Given the description of an element on the screen output the (x, y) to click on. 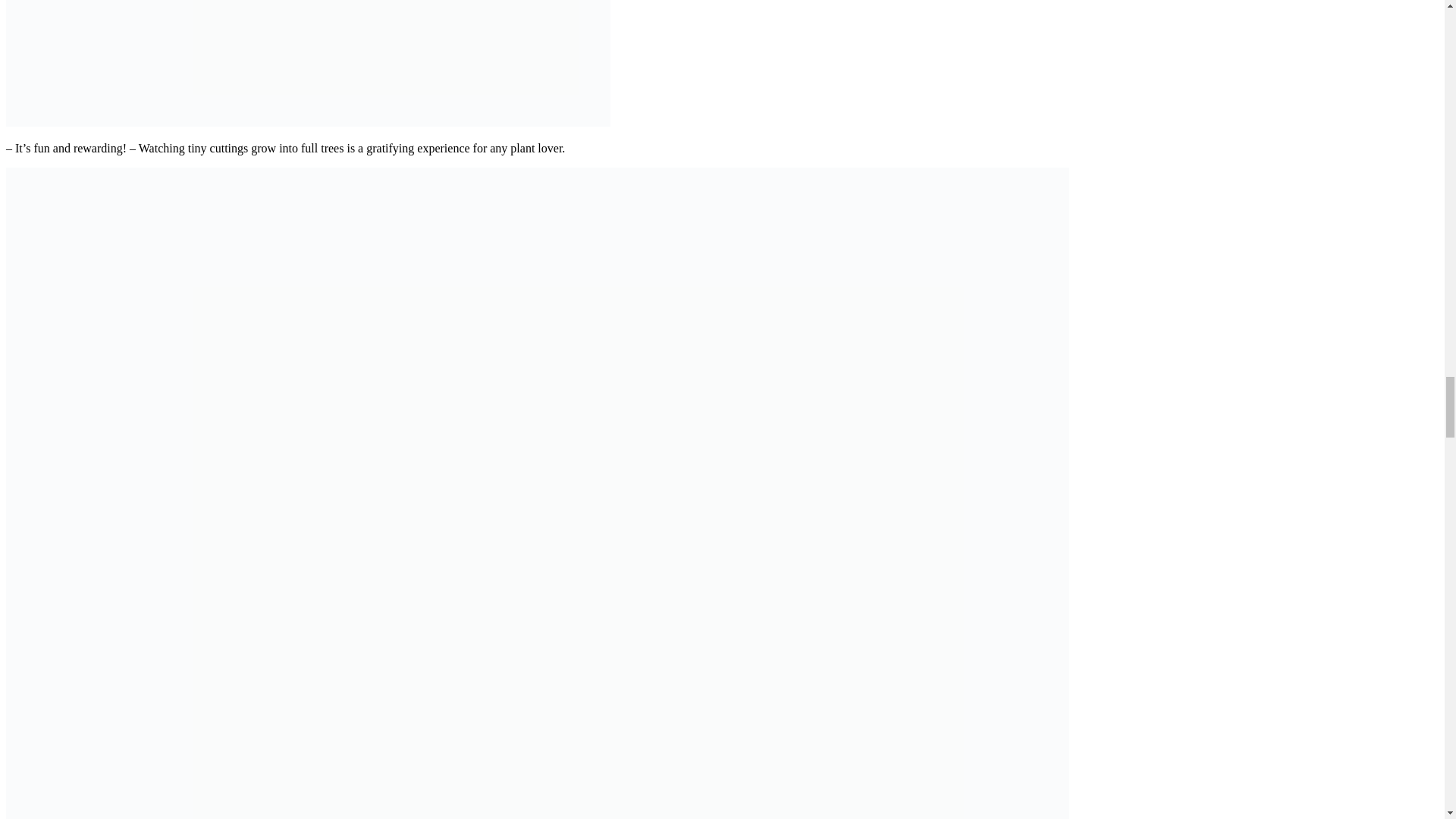
How To Propagate Fiddle Leaf Fig (307, 122)
